Given the description of an element on the screen output the (x, y) to click on. 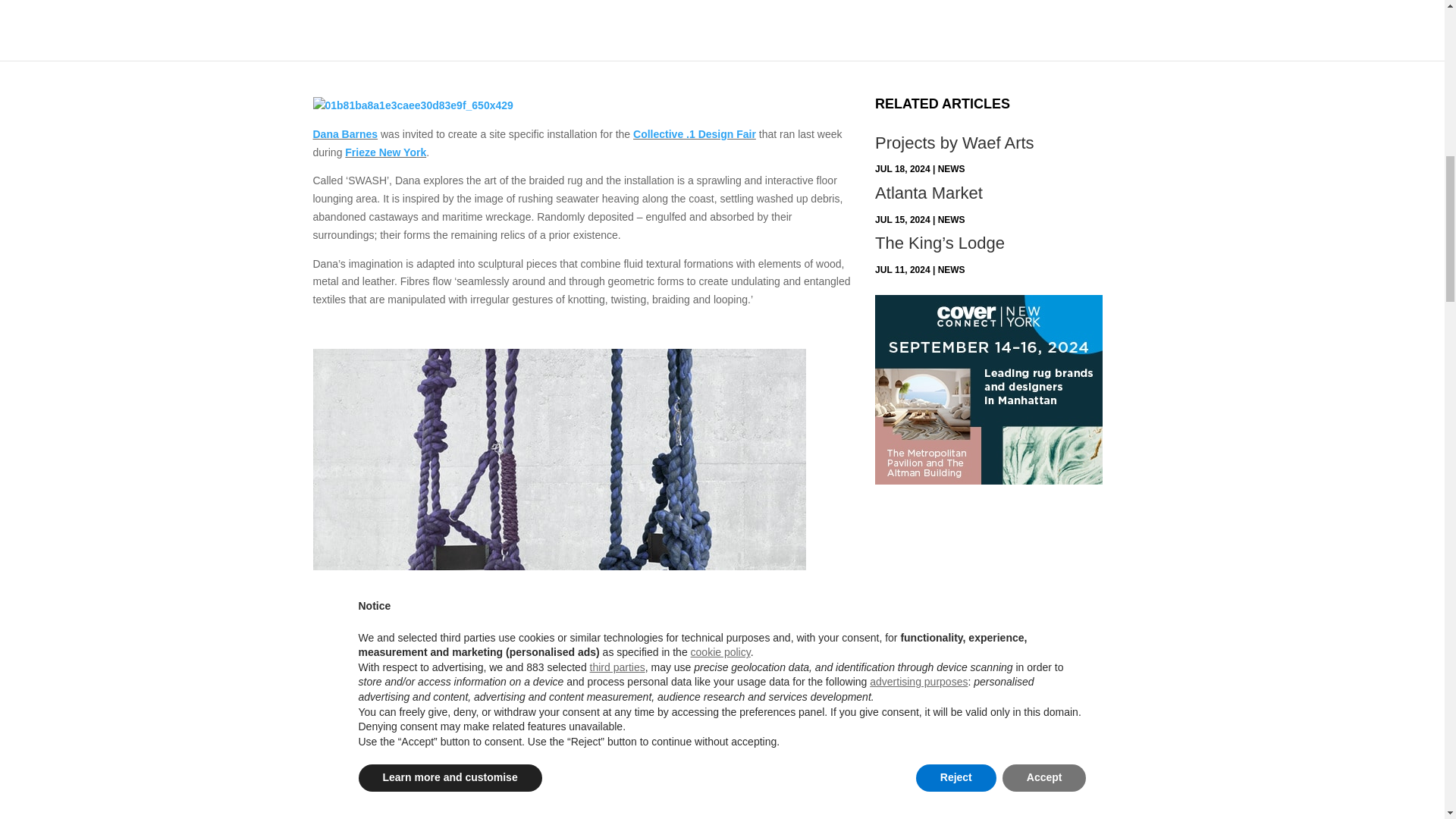
Atlanta Market (928, 192)
 - COVER magazine (559, 751)
Dana Barnes (345, 133)
 - COVER magazine (412, 106)
Collective .1 Design Fair (694, 133)
NEWS (951, 269)
Projects by Waef Arts (954, 142)
NEWS (951, 219)
Frieze New York (385, 152)
NEWS (951, 168)
